Given the description of an element on the screen output the (x, y) to click on. 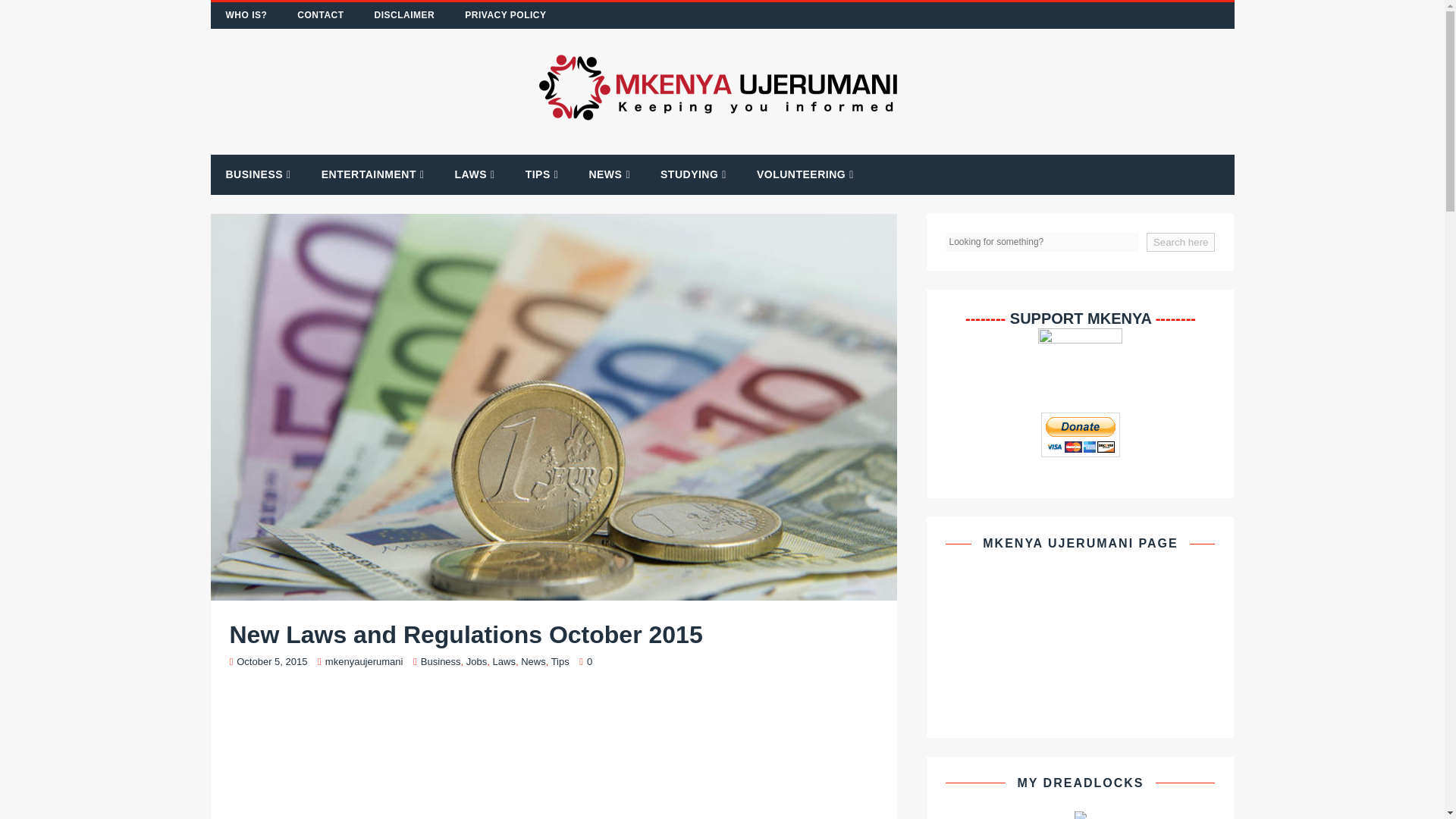
PRIVACY POLICY (504, 15)
WHO IS? (246, 15)
PayPal - The safer, easier way to pay online! (1080, 434)
DISCLAIMER (404, 15)
CONTACT (320, 15)
